Given the description of an element on the screen output the (x, y) to click on. 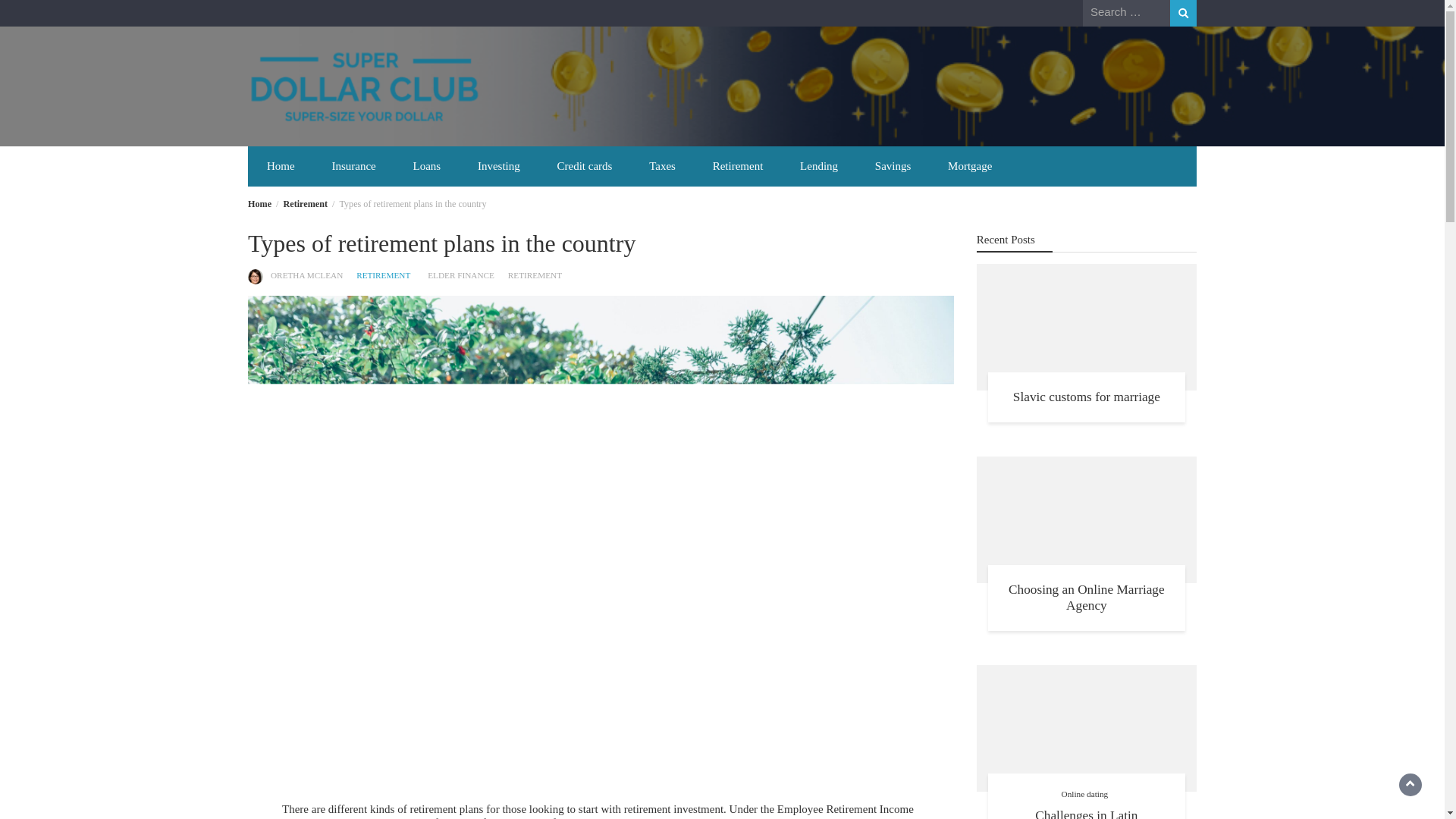
Mortgage (970, 166)
Retirement (305, 204)
Search (1183, 13)
Insurance (352, 166)
Savings (893, 166)
Search for: (1126, 12)
Loans (426, 166)
Credit cards (584, 166)
Lending (818, 166)
Taxes (661, 166)
